Given the description of an element on the screen output the (x, y) to click on. 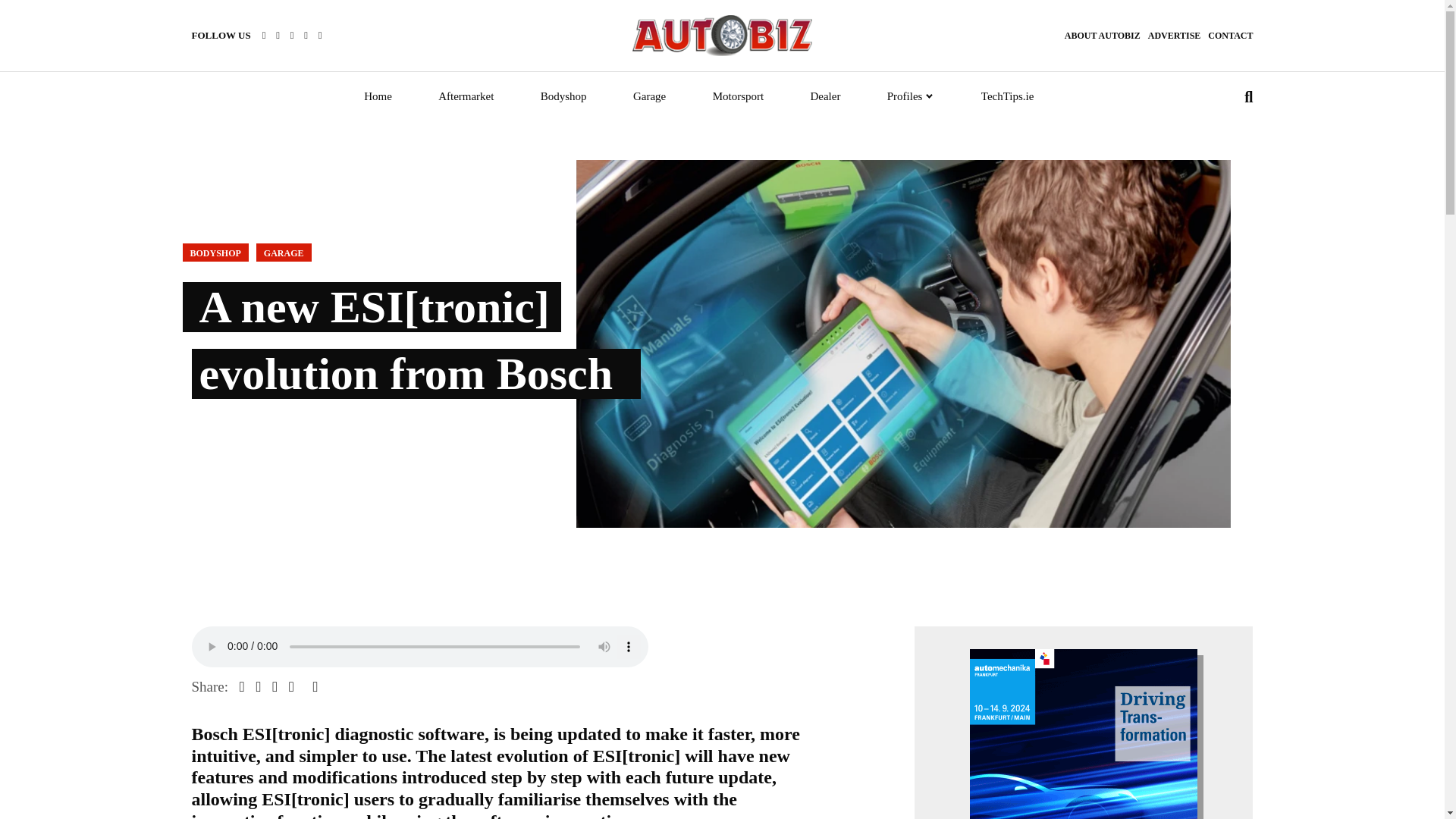
ABOUT AUTOBIZ (1102, 35)
ADVERTISE (1174, 35)
CONTACT (1230, 35)
